Given the description of an element on the screen output the (x, y) to click on. 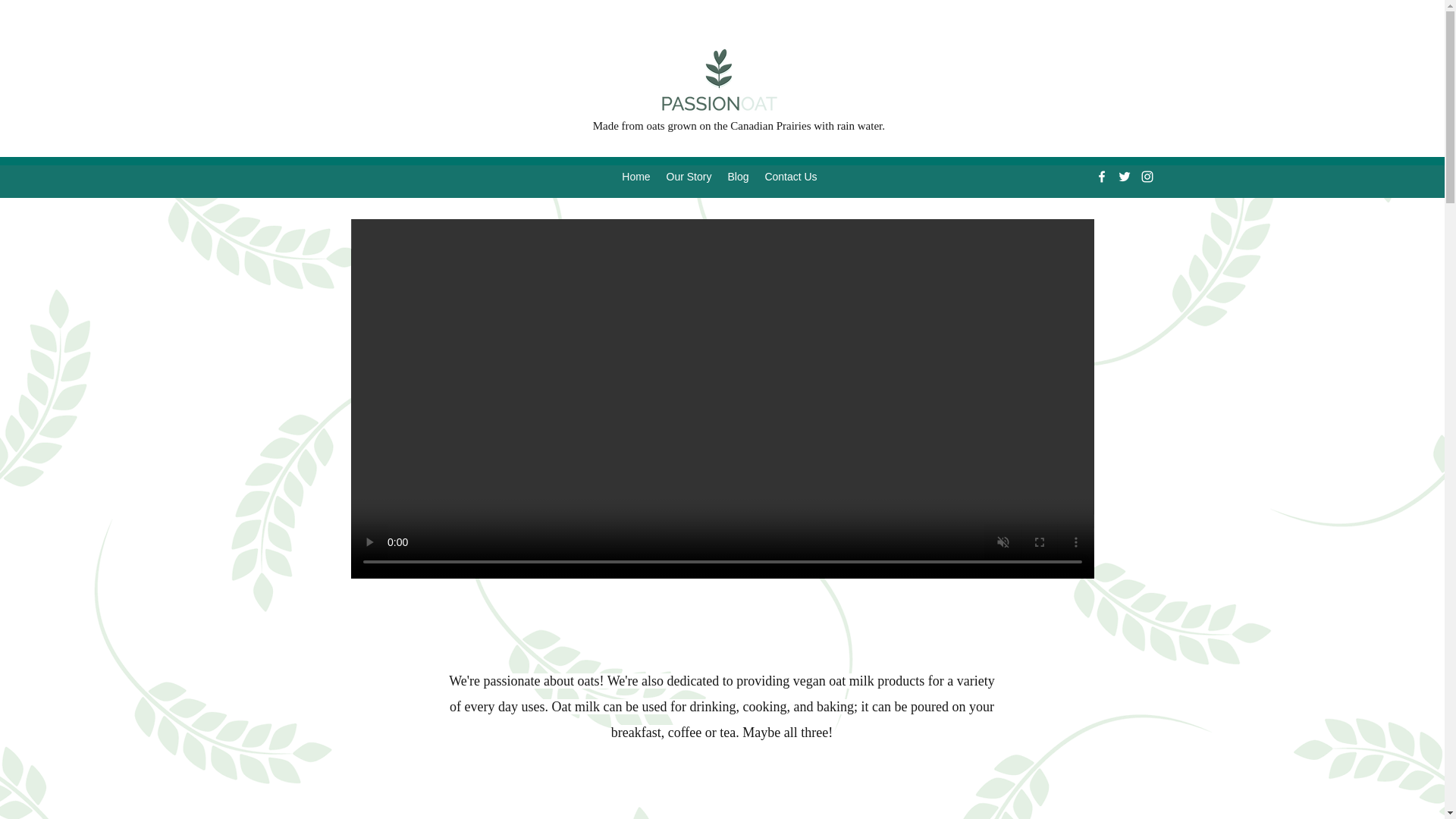
Contact Us (791, 176)
Home (636, 176)
Blog (738, 176)
Our Story (688, 176)
